Given the description of an element on the screen output the (x, y) to click on. 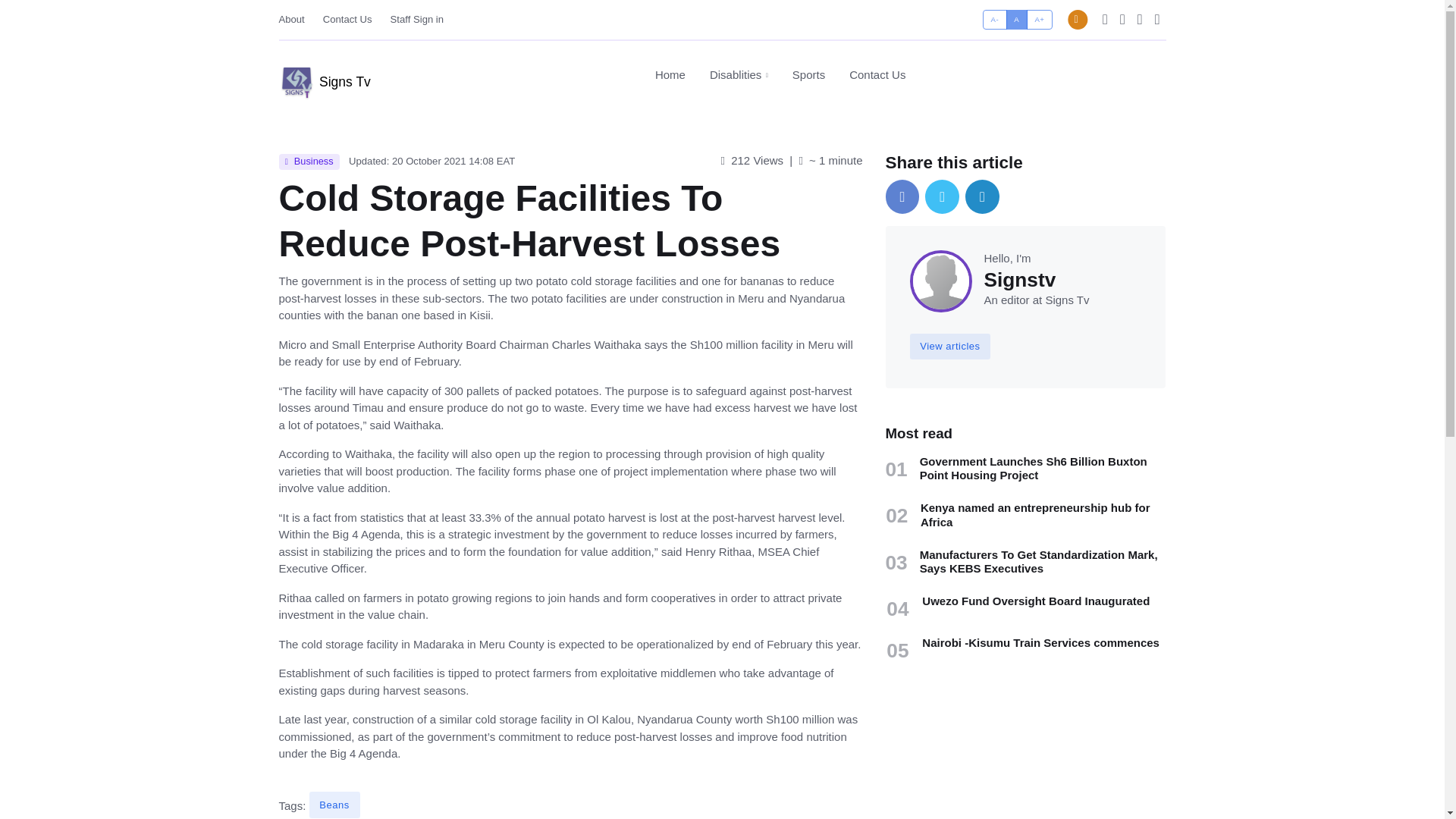
on (987, 14)
Business (309, 161)
on (774, 74)
Contact Us (987, 14)
Sports (871, 74)
Contact Us (808, 74)
Signs Tv (347, 19)
Beans (325, 75)
About (333, 804)
Home (296, 19)
Staff Sign in (670, 74)
Disablities (416, 19)
on (738, 74)
